Given the description of an element on the screen output the (x, y) to click on. 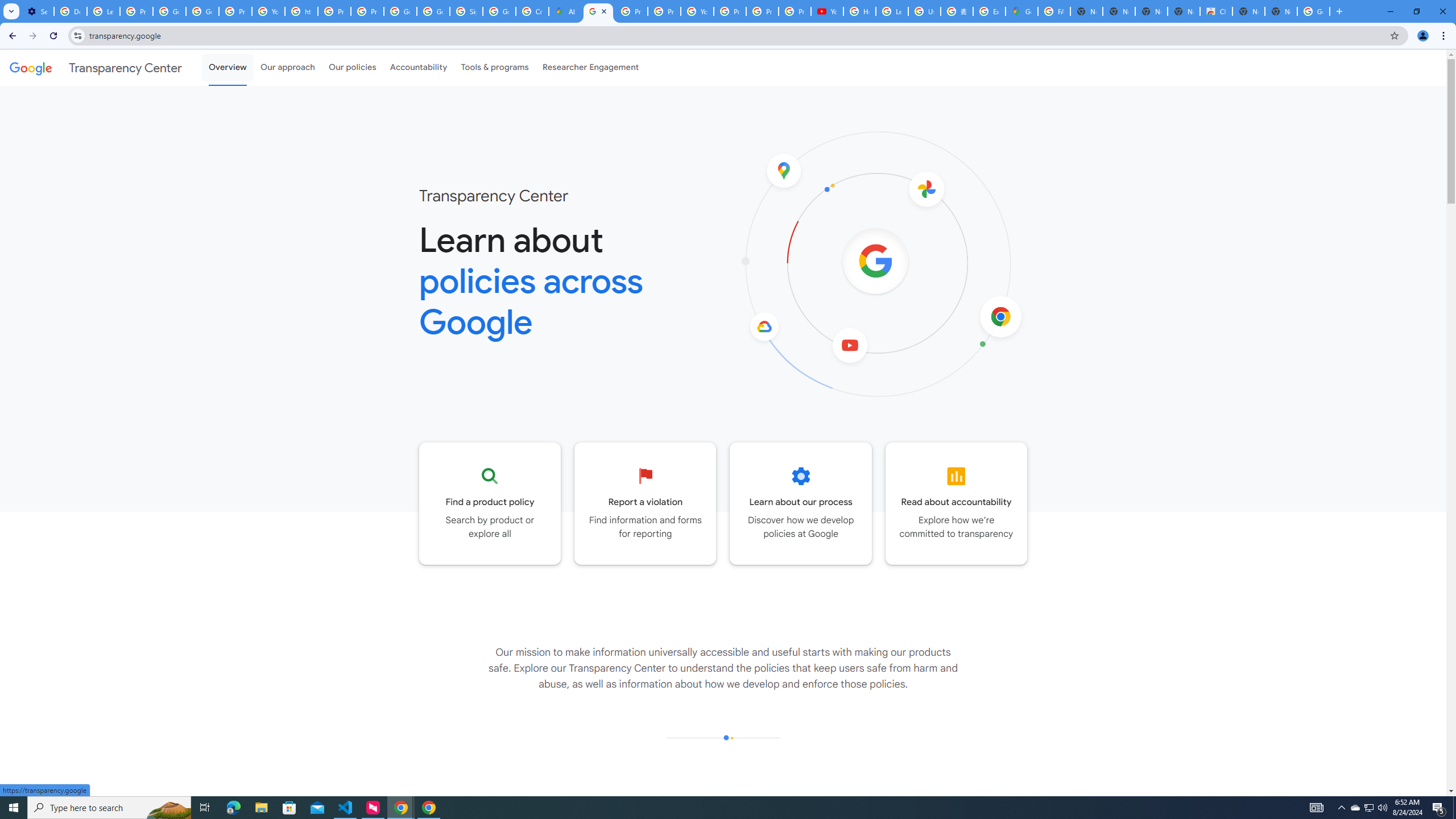
Delete photos & videos - Computer - Google Photos Help (70, 11)
Privacy Help Center - Policies Help (663, 11)
Settings - On startup (37, 11)
New Tab (1281, 11)
Researcher Engagement (590, 67)
Go to the Our process page (800, 503)
Create your Google Account (532, 11)
Our policies (351, 67)
